Given the description of an element on the screen output the (x, y) to click on. 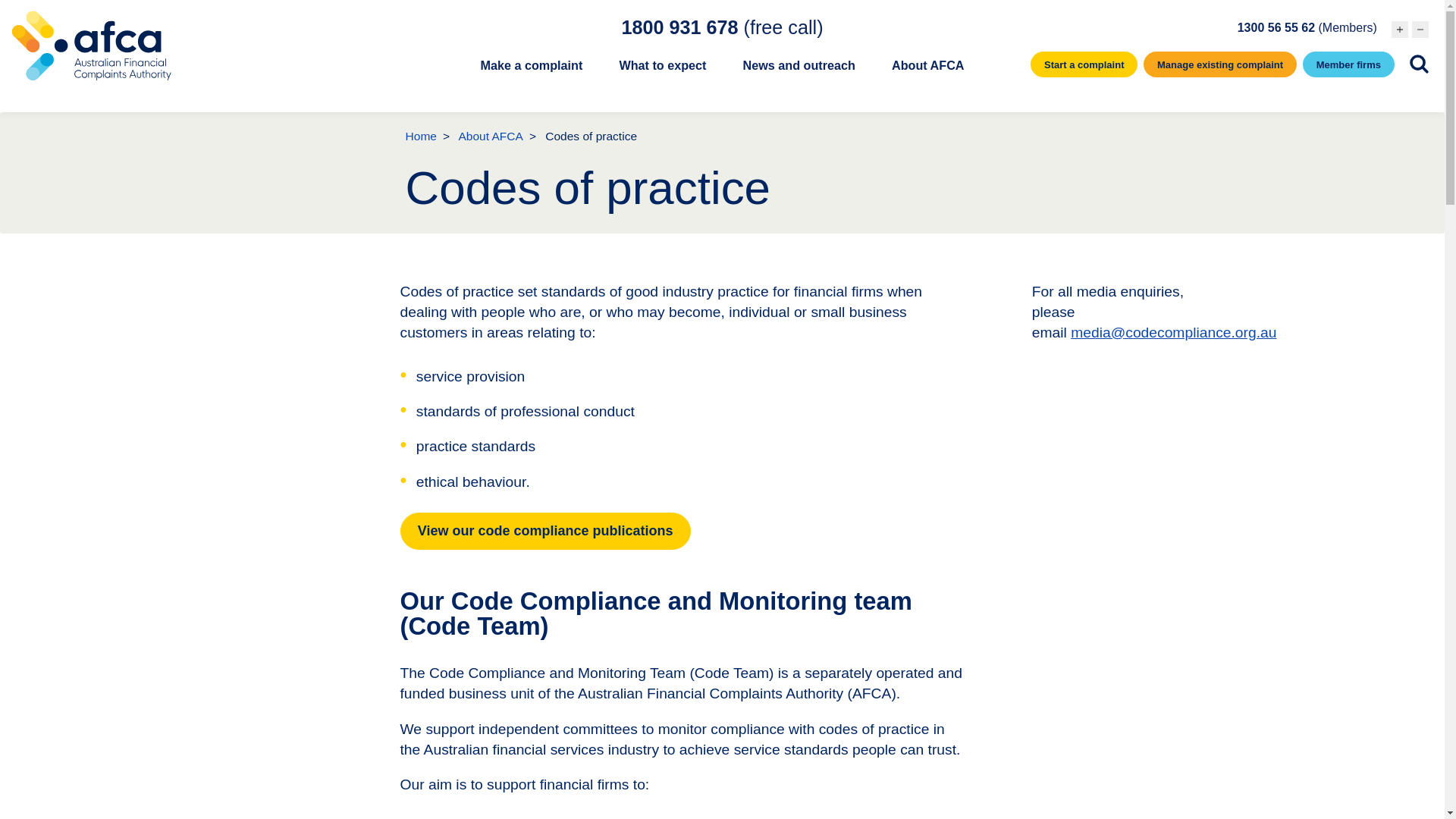
What to expect (661, 73)
News and outreach (799, 73)
Website search (1418, 63)
If you are not a member, click here to call us (721, 26)
Make a complaint (530, 73)
Skip to main content (721, 1)
If you are already a member, click here to call us (1307, 27)
